Given the description of an element on the screen output the (x, y) to click on. 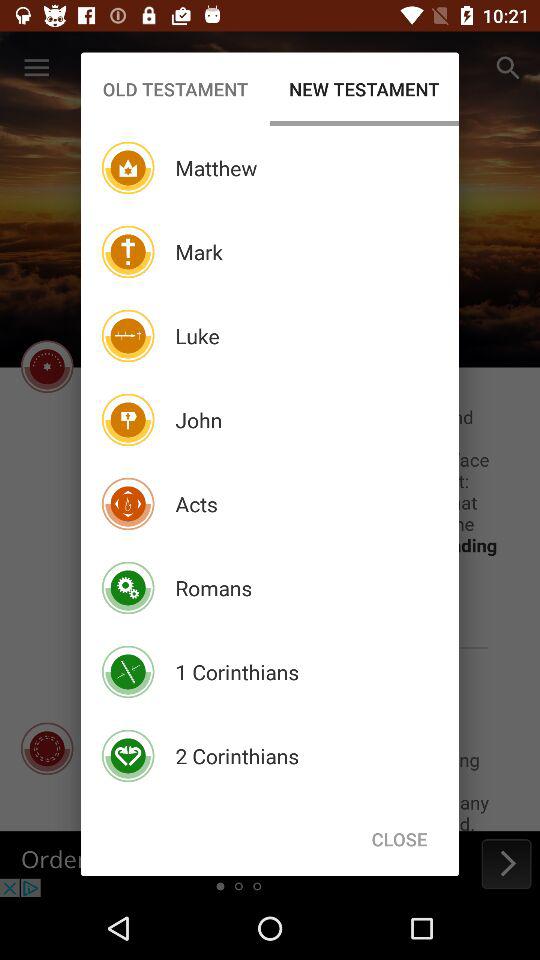
flip until the mark item (198, 251)
